Given the description of an element on the screen output the (x, y) to click on. 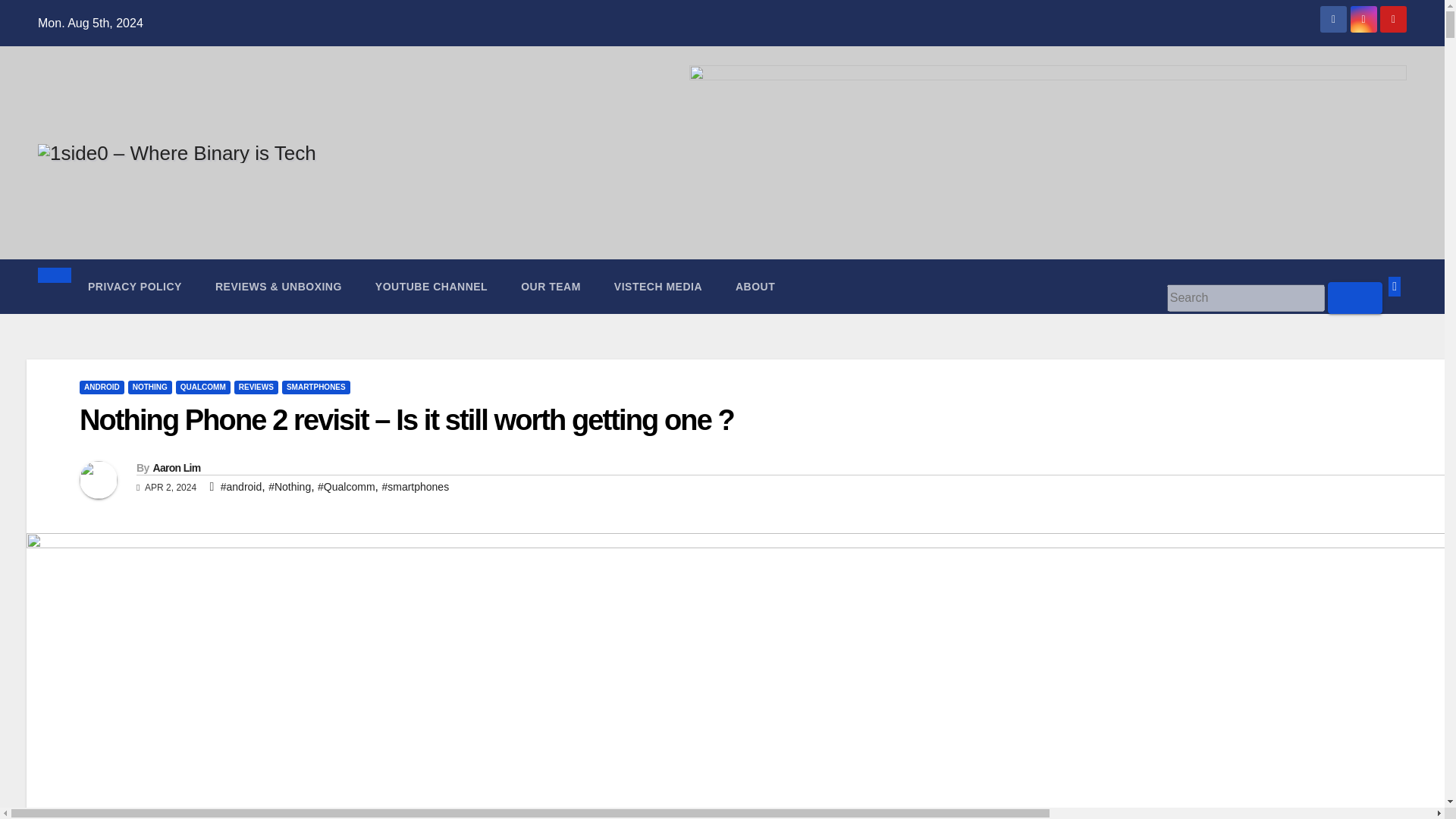
SMARTPHONES (316, 386)
NOTHING (149, 386)
Our Team (549, 286)
VISTECH MEDIA (657, 286)
Privacy Policy (134, 286)
PRIVACY POLICY (134, 286)
YOUTUBE CHANNEL (430, 286)
OUR TEAM (549, 286)
ANDROID (101, 386)
Vistech Media (657, 286)
